Given the description of an element on the screen output the (x, y) to click on. 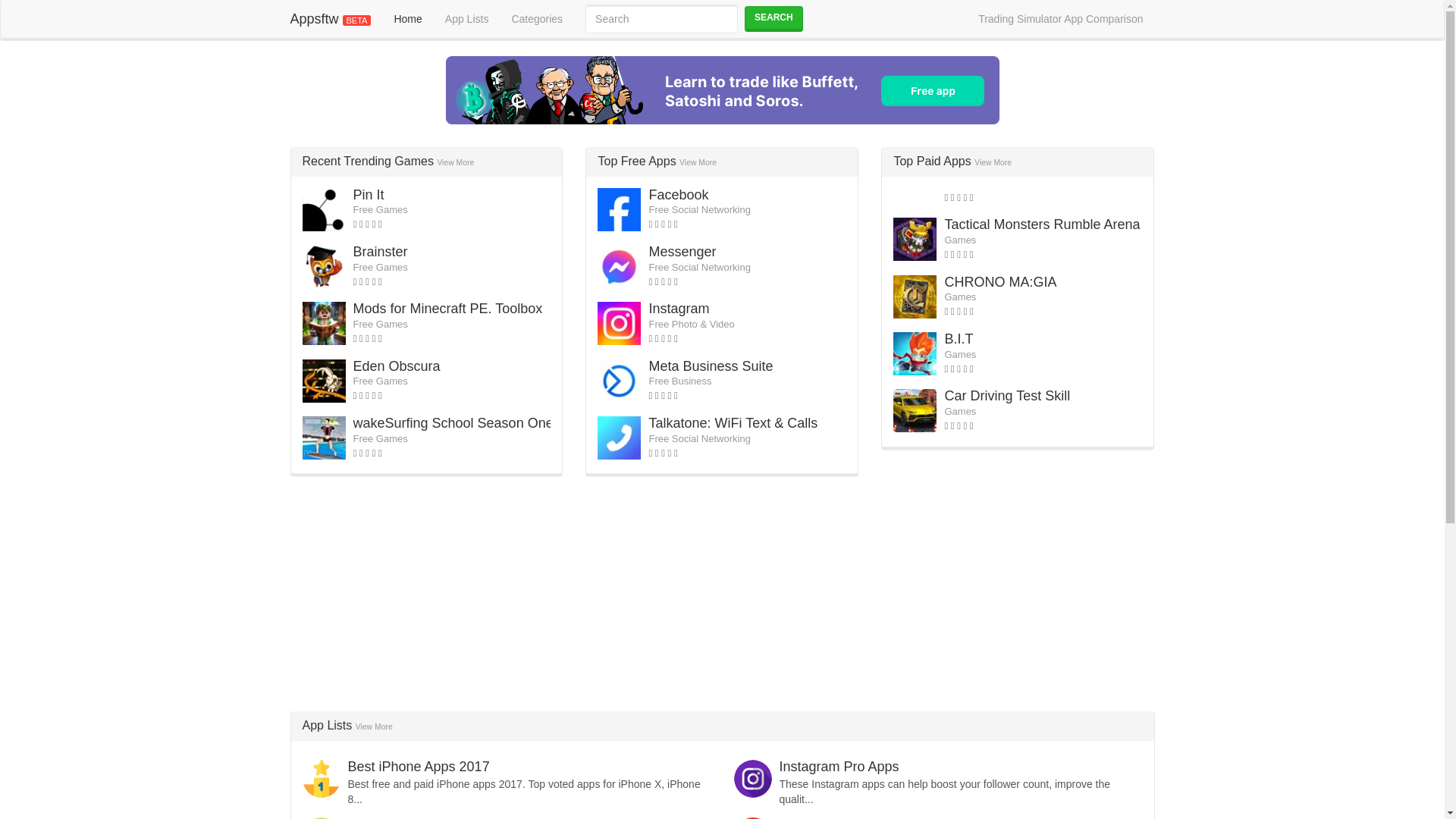
SEARCH (773, 18)
View B.I.T (957, 338)
View Pin It (368, 194)
Apps to Increase Productivity (435, 817)
View Facebook (677, 194)
View Car Driving Test Skill (1006, 395)
Instagram (678, 308)
Top Free Apps View More (656, 160)
Meta Business Suite (710, 365)
wakeSurfing School Season One (453, 422)
View Mods for Minecraft PE. Toolbox (448, 308)
Brainster (380, 251)
Stock Market Game - Trading Simulator (721, 90)
App Lists (466, 18)
Home (406, 18)
